Given the description of an element on the screen output the (x, y) to click on. 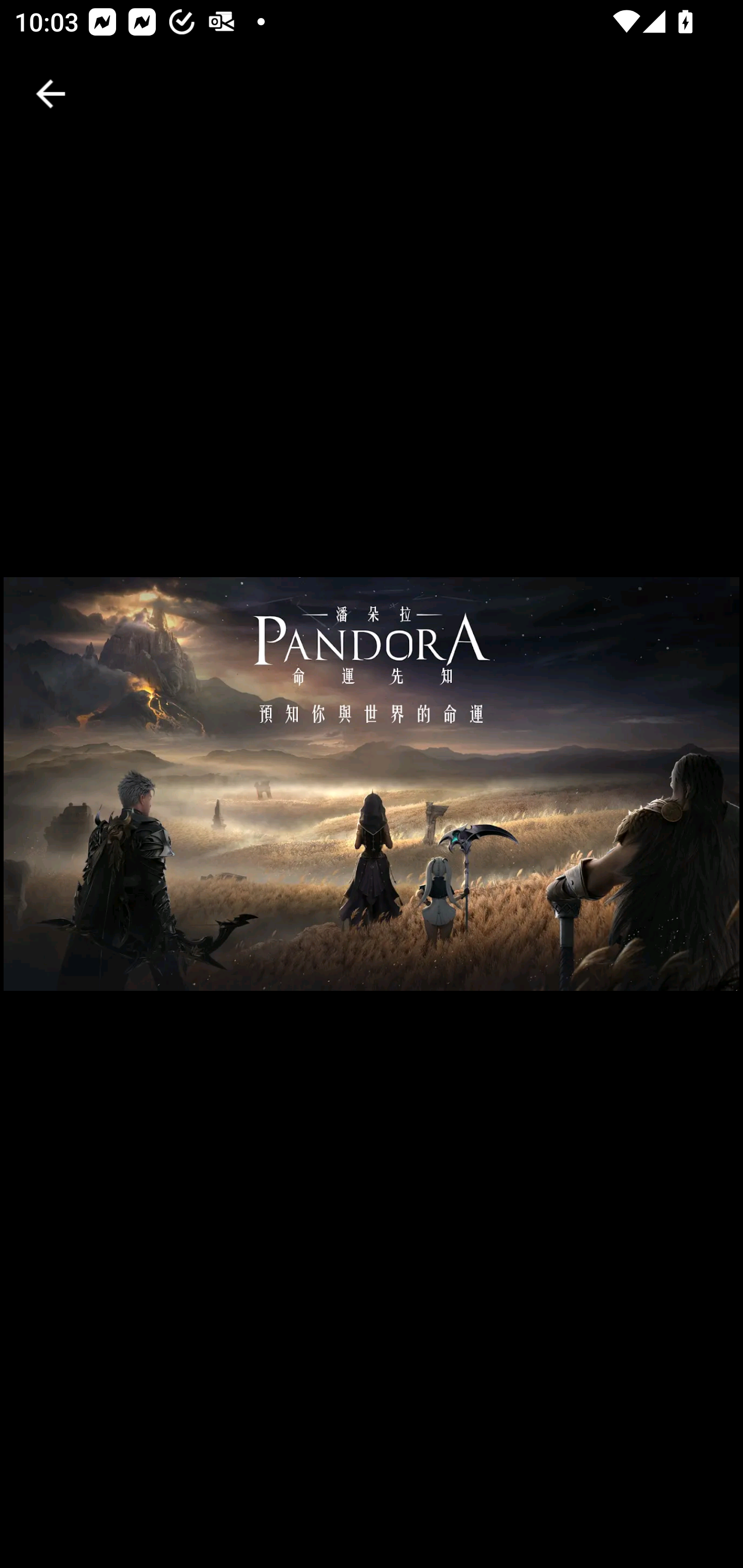
Back (50, 93)
